Given the description of an element on the screen output the (x, y) to click on. 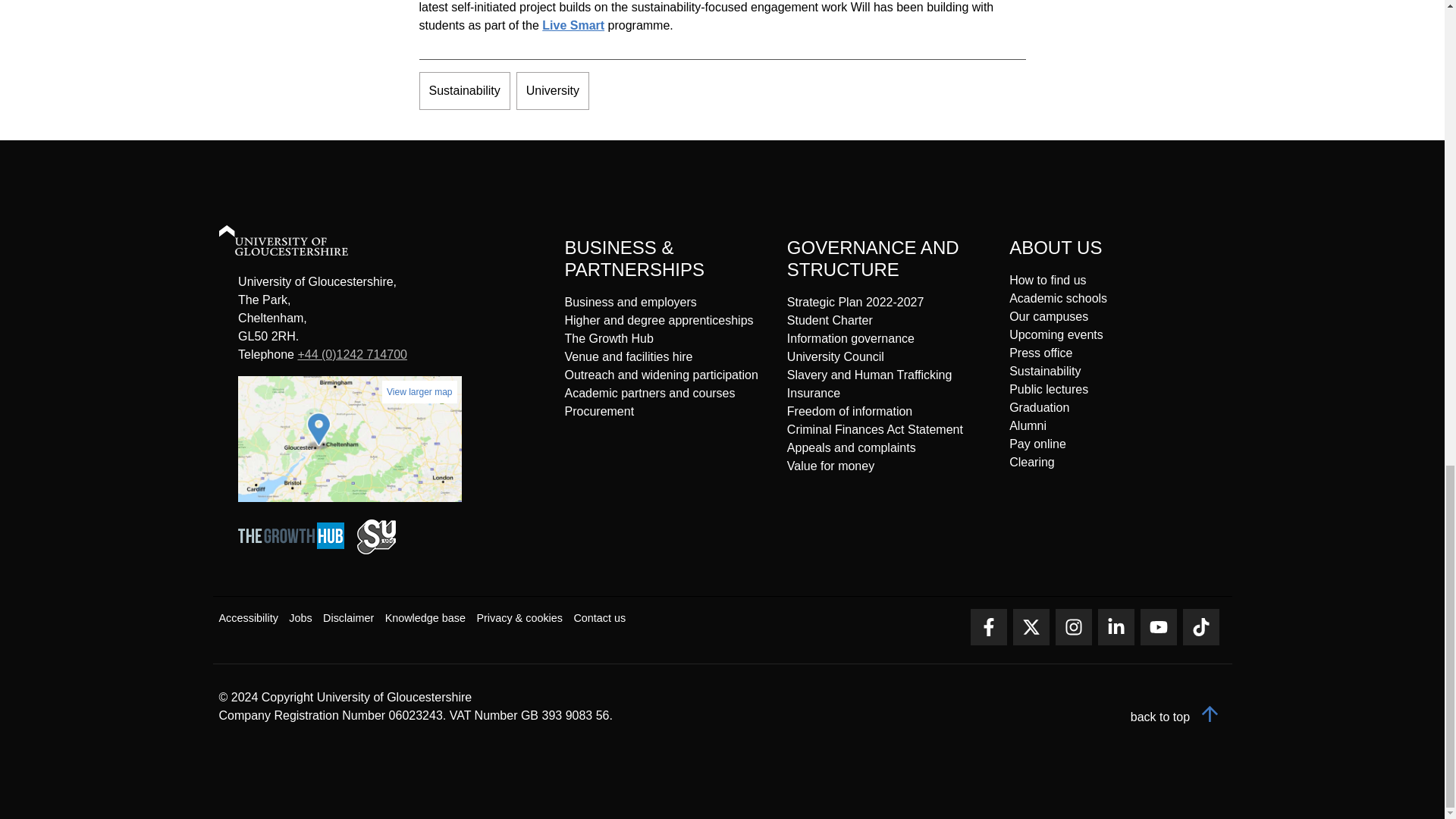
Connect on Instagram (1073, 627)
Connect on LinkedIn (1115, 627)
Go to The Growth Hub website. (295, 549)
Connect on Facebook (989, 627)
Connect on Twitter (1031, 627)
back to top (1178, 716)
Connect on TikTok (1201, 627)
Go to the Home Page (296, 243)
Go To The Top Of The Page (1178, 716)
